Given the description of an element on the screen output the (x, y) to click on. 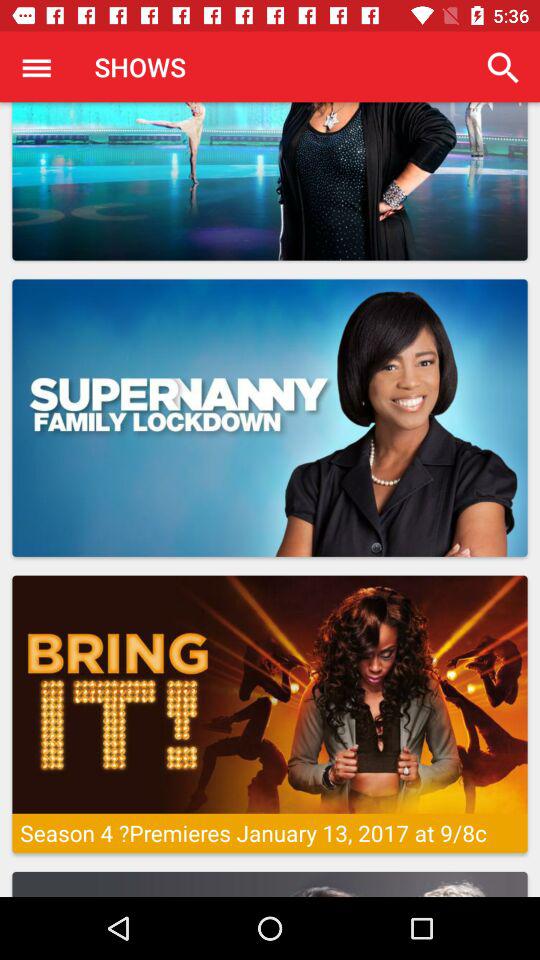
turn off item at the top right corner (503, 67)
